Given the description of an element on the screen output the (x, y) to click on. 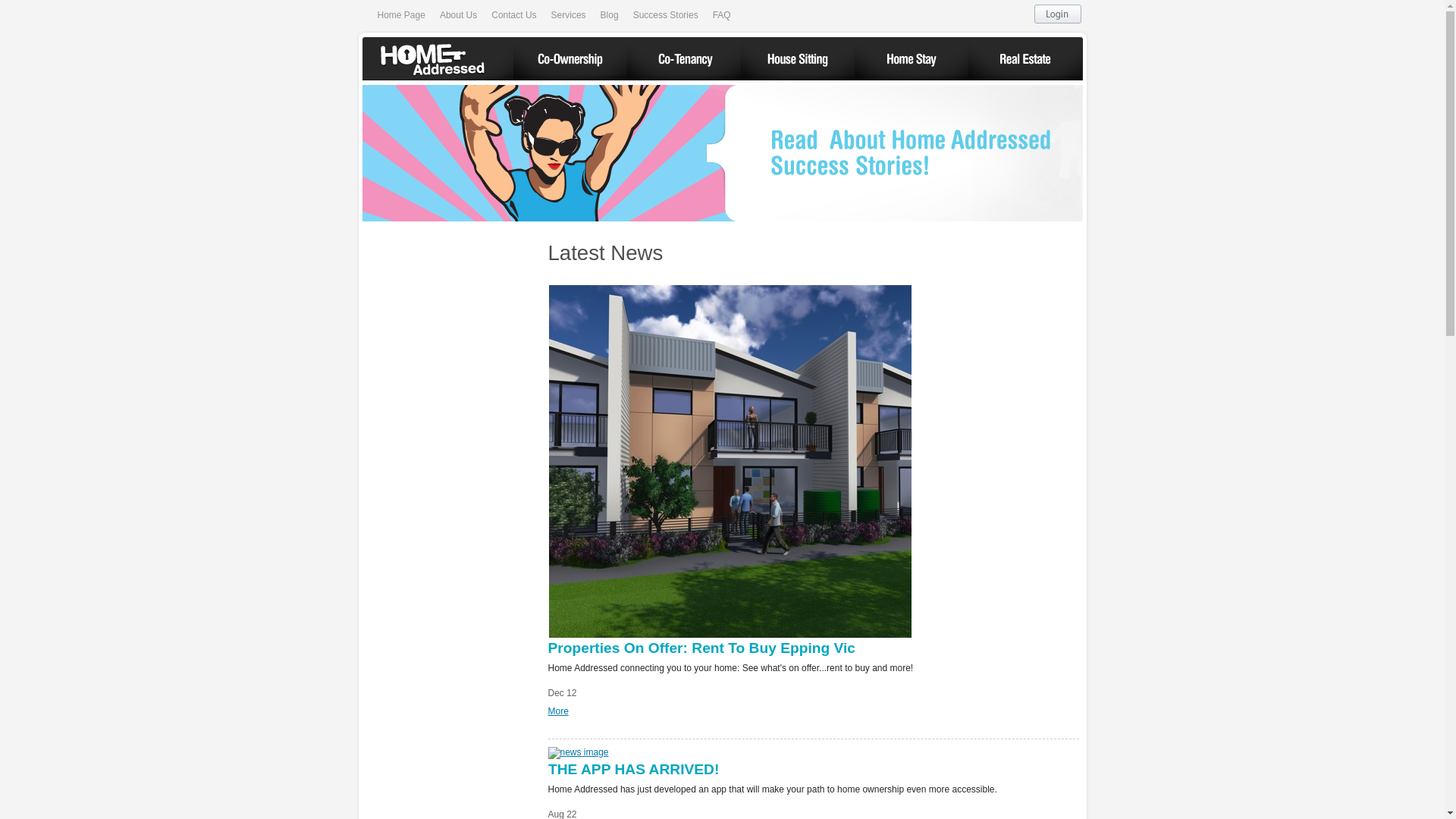
Blog Element type: text (609, 14)
More Element type: text (557, 711)
Contact Us Element type: text (513, 14)
Home Page Element type: text (401, 14)
THE APP HAS ARRIVED! Element type: text (812, 773)
About Us Element type: text (457, 14)
Success Stories Element type: text (665, 14)
Properties On Offer: Rent To Buy Epping Vic Element type: text (700, 647)
Services Element type: text (568, 14)
FAQ Element type: text (721, 14)
